Given the description of an element on the screen output the (x, y) to click on. 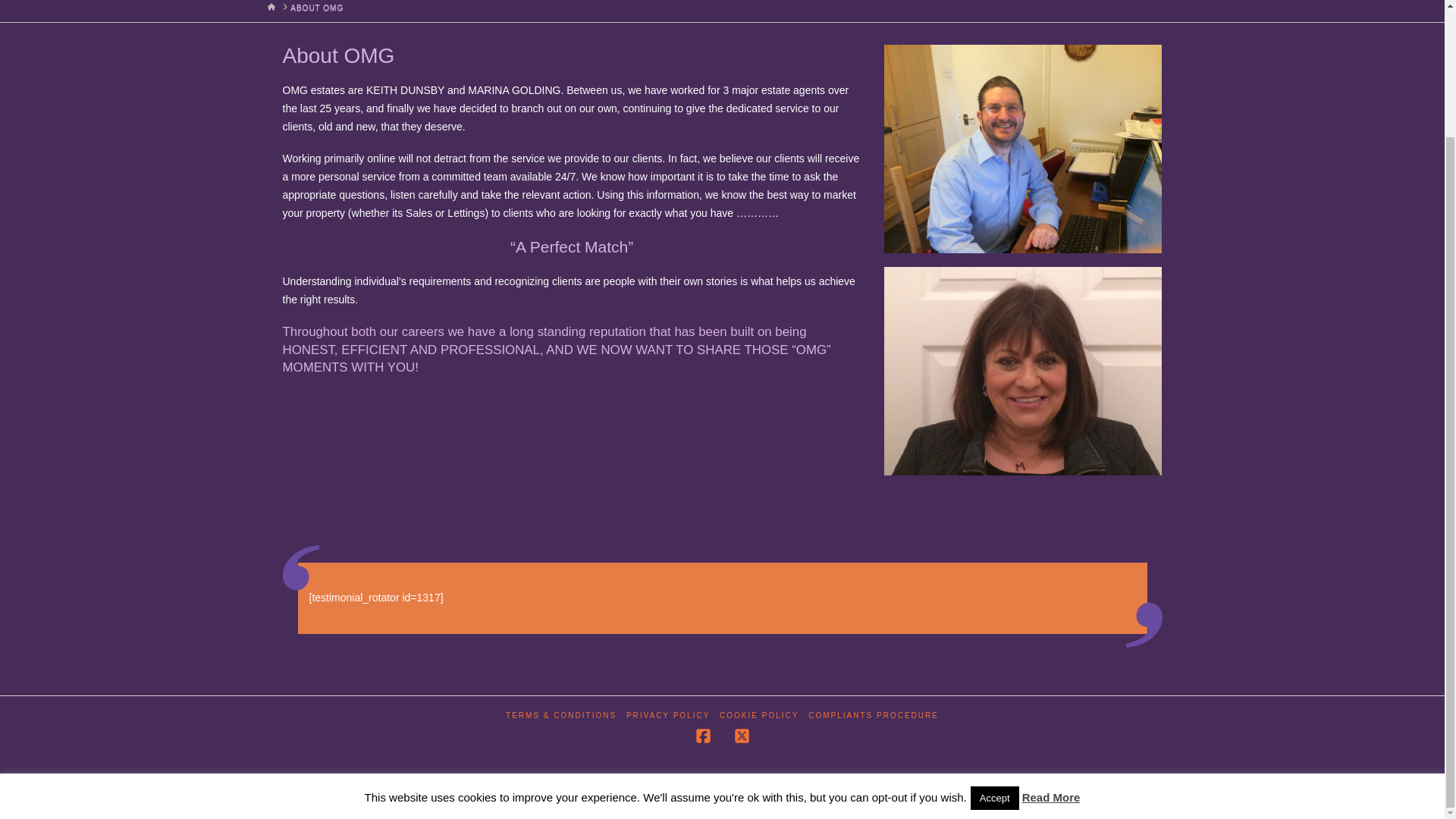
Read More (1051, 643)
COOKIE POLICY (758, 715)
ABOUT OMG (316, 7)
COMPLIANTS PROCEDURE (873, 715)
You Are Here (316, 7)
PRIVACY POLICY (668, 715)
Accept (995, 644)
